Given the description of an element on the screen output the (x, y) to click on. 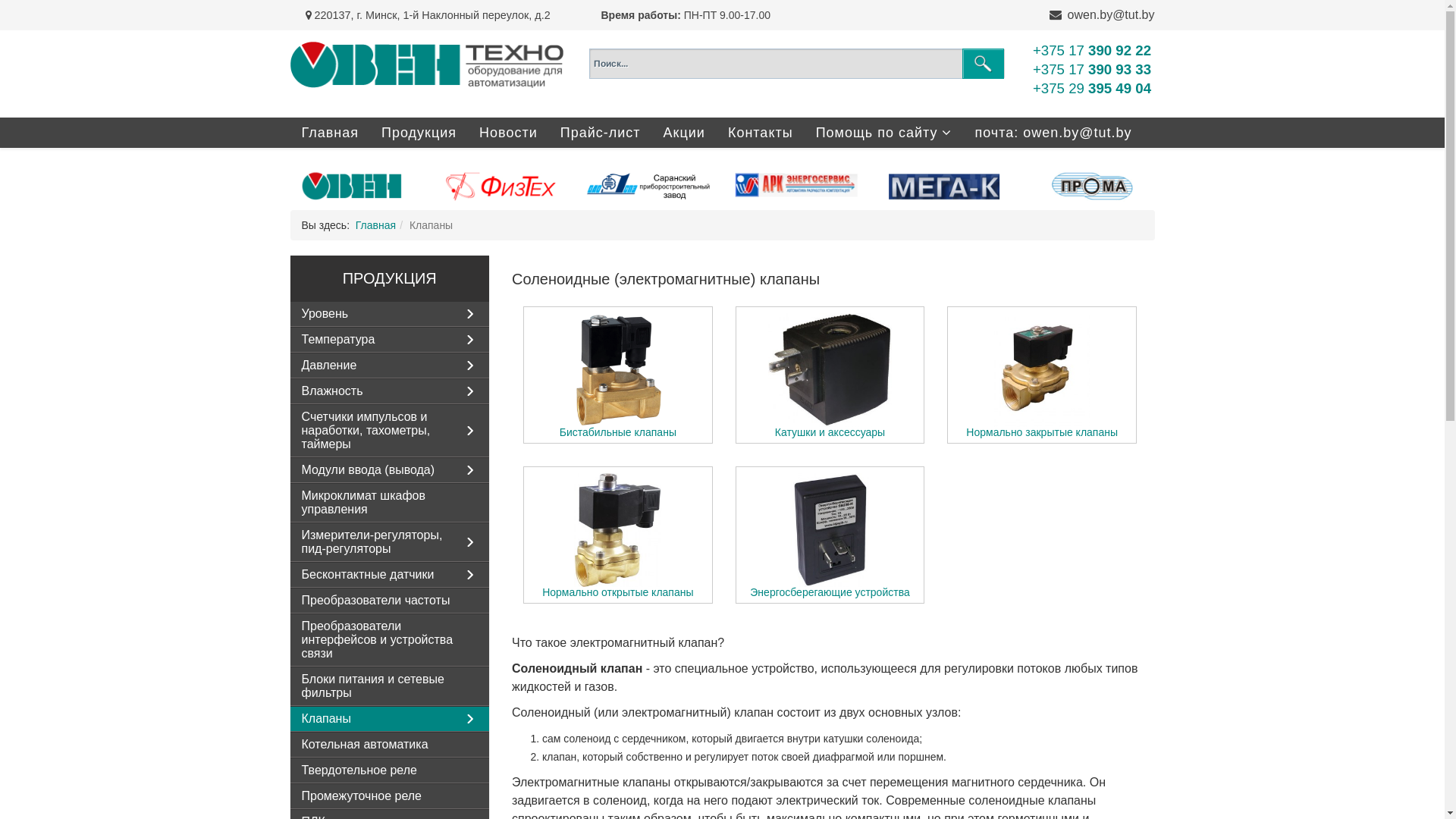
+375 17 390 93 33 Element type: text (1091, 69)
owen.by@tut.by Element type: text (1110, 14)
+375 17 390 92 22 Element type: text (1091, 50)
+375 29 395 49 04 Element type: text (1091, 88)
